Given the description of an element on the screen output the (x, y) to click on. 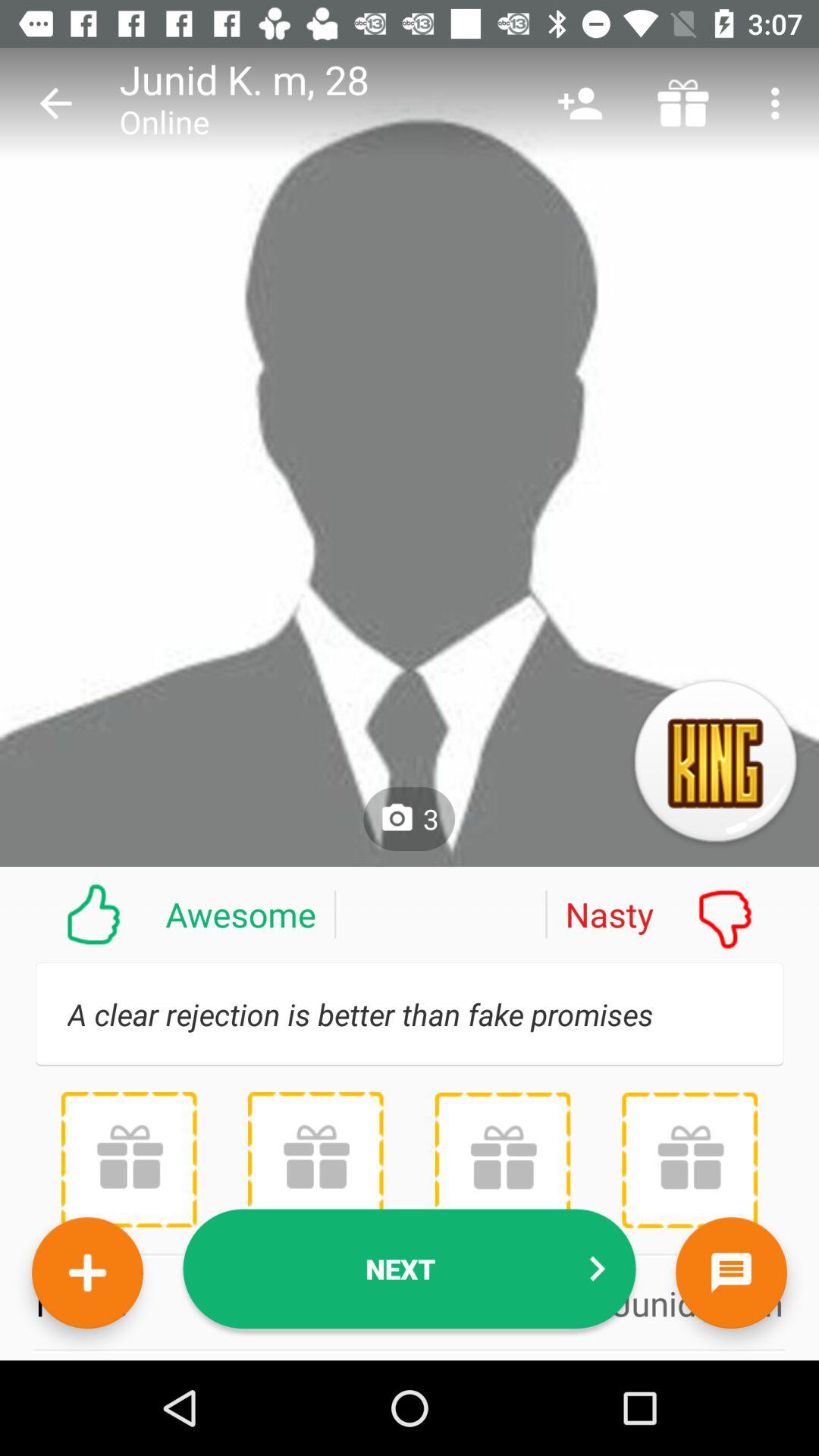
jump to 3 icon (409, 818)
